Given the description of an element on the screen output the (x, y) to click on. 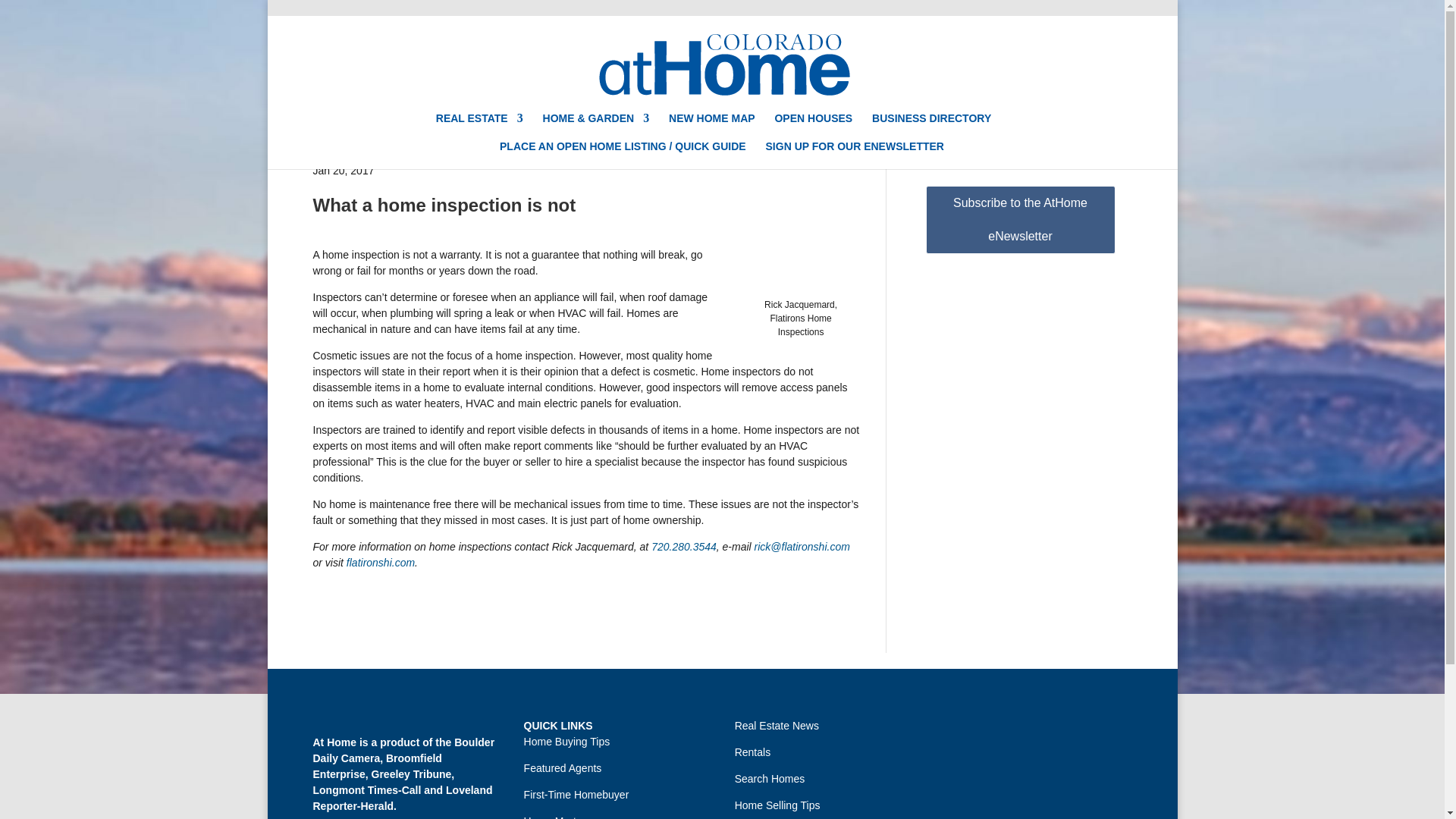
SIGN UP FOR OUR ENEWSLETTER (854, 154)
OPEN HOUSES (812, 126)
NEW HOME MAP (711, 126)
REAL ESTATE (478, 126)
720.280.3544 (683, 546)
BUSINESS DIRECTORY (931, 126)
